Given the description of an element on the screen output the (x, y) to click on. 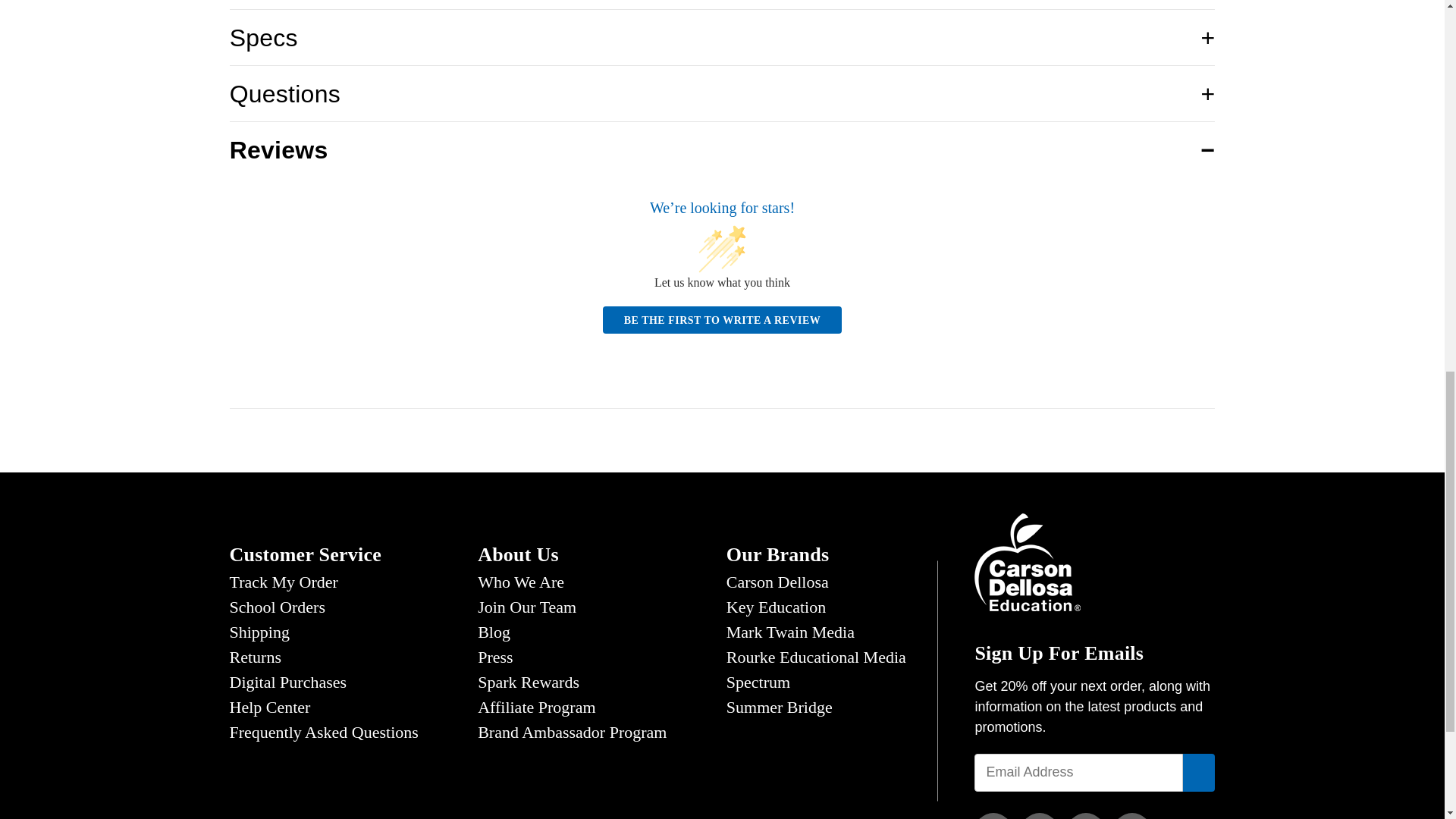
CarsonDellosa.com (1027, 560)
Pinterest (1086, 816)
Youtube (1132, 816)
Instagram (1039, 816)
Facebook (992, 816)
